Given the description of an element on the screen output the (x, y) to click on. 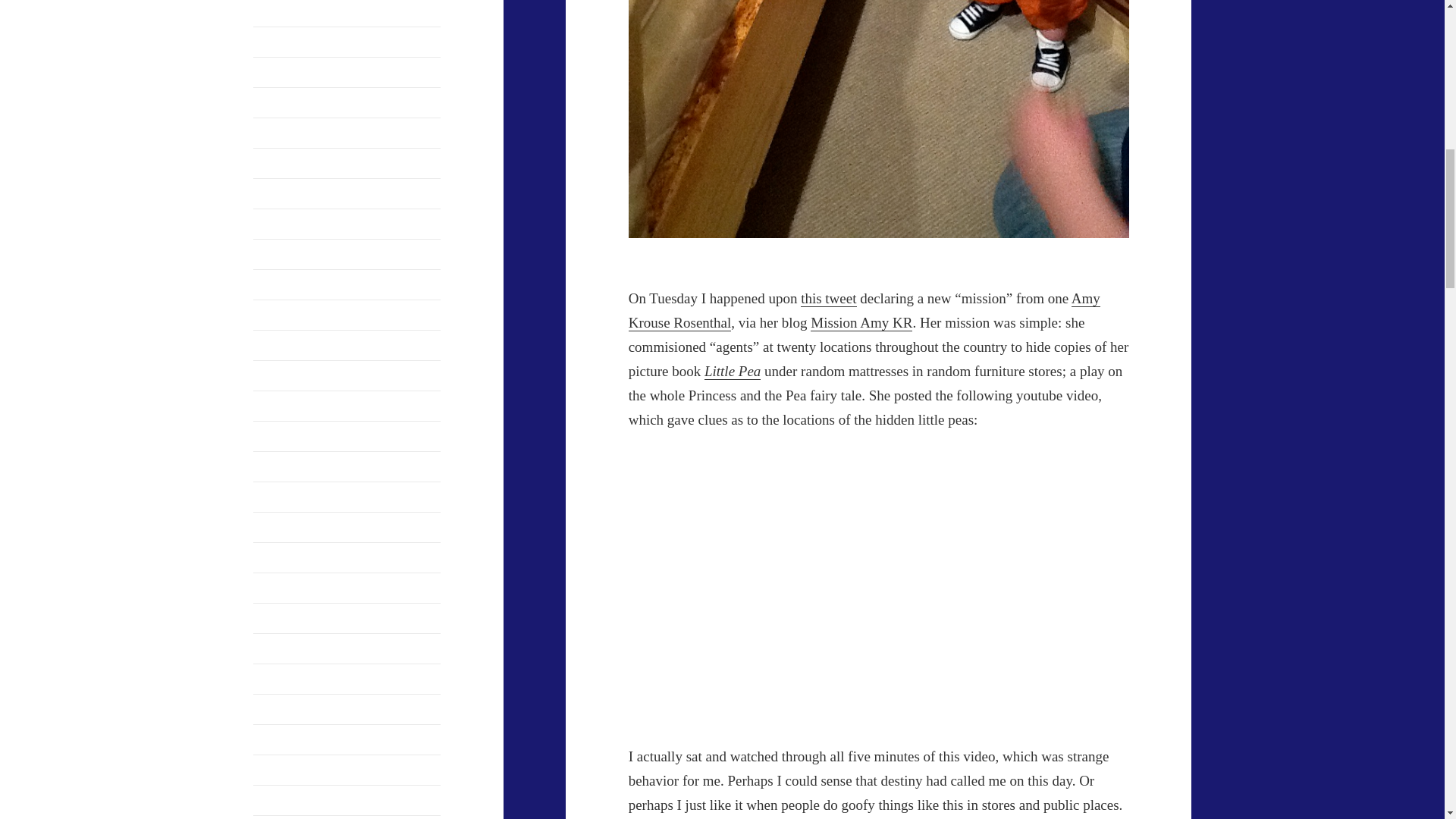
February 2010 (288, 375)
September 2010 (292, 284)
March 2009 (283, 587)
September 2011 (292, 11)
March 2011 (282, 163)
March 2010 (283, 345)
December 2009 (291, 405)
September 2009 (292, 436)
February 2009 (288, 617)
April 2011 (279, 132)
June 2011 (277, 102)
May 2009 (277, 526)
December 2010 (291, 254)
July 2010 (277, 314)
July 2011 (276, 72)
